Given the description of an element on the screen output the (x, y) to click on. 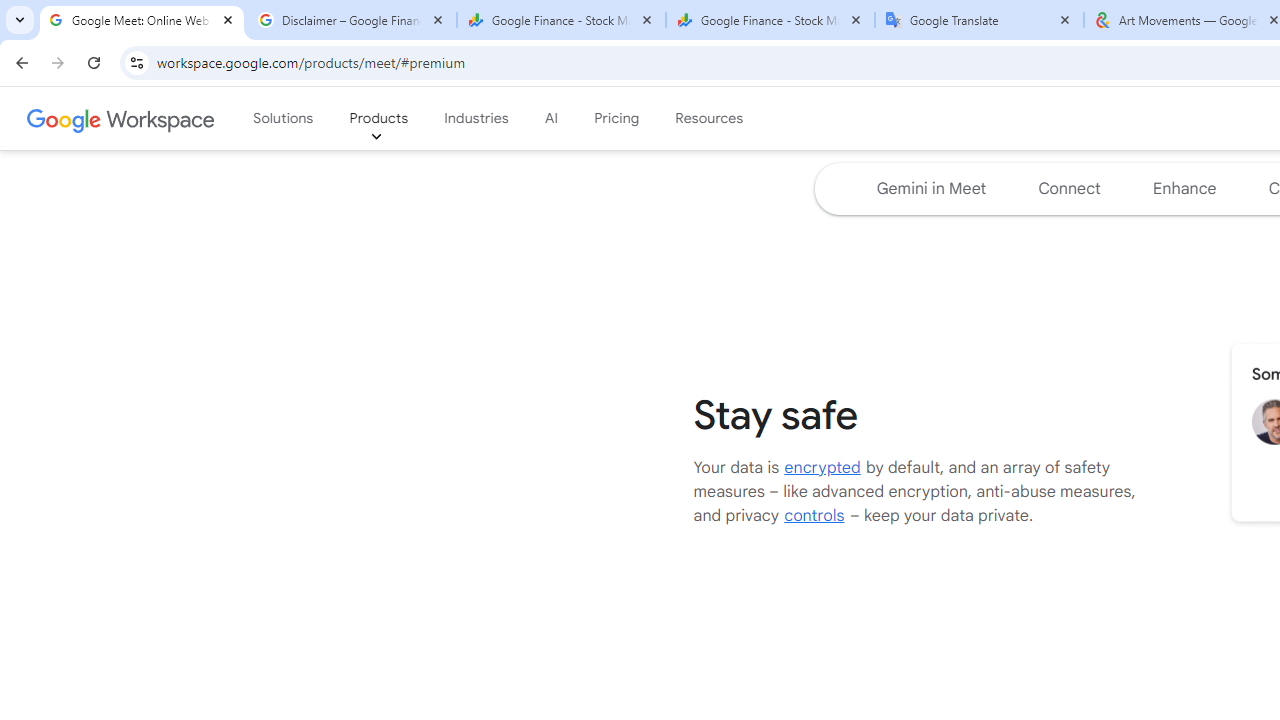
Navigate to the Gemini in Meet section of the page (930, 188)
Google Workspace (122, 119)
Resources (708, 119)
Pricing (616, 119)
Products (379, 119)
Industries (476, 119)
Jump to the connect section of the page  (1069, 188)
Google Translate (979, 20)
